Given the description of an element on the screen output the (x, y) to click on. 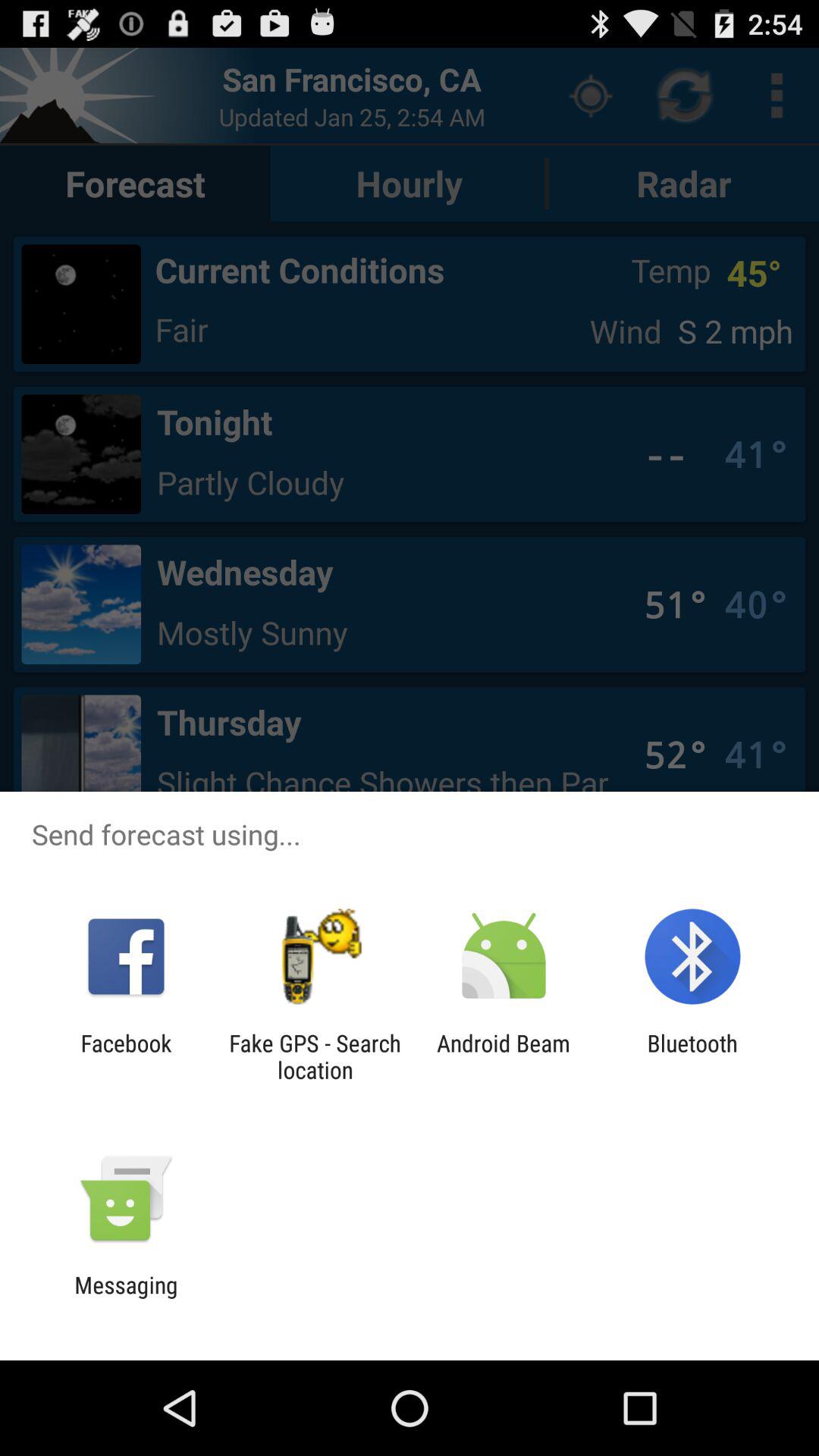
tap the item next to the android beam item (692, 1056)
